Given the description of an element on the screen output the (x, y) to click on. 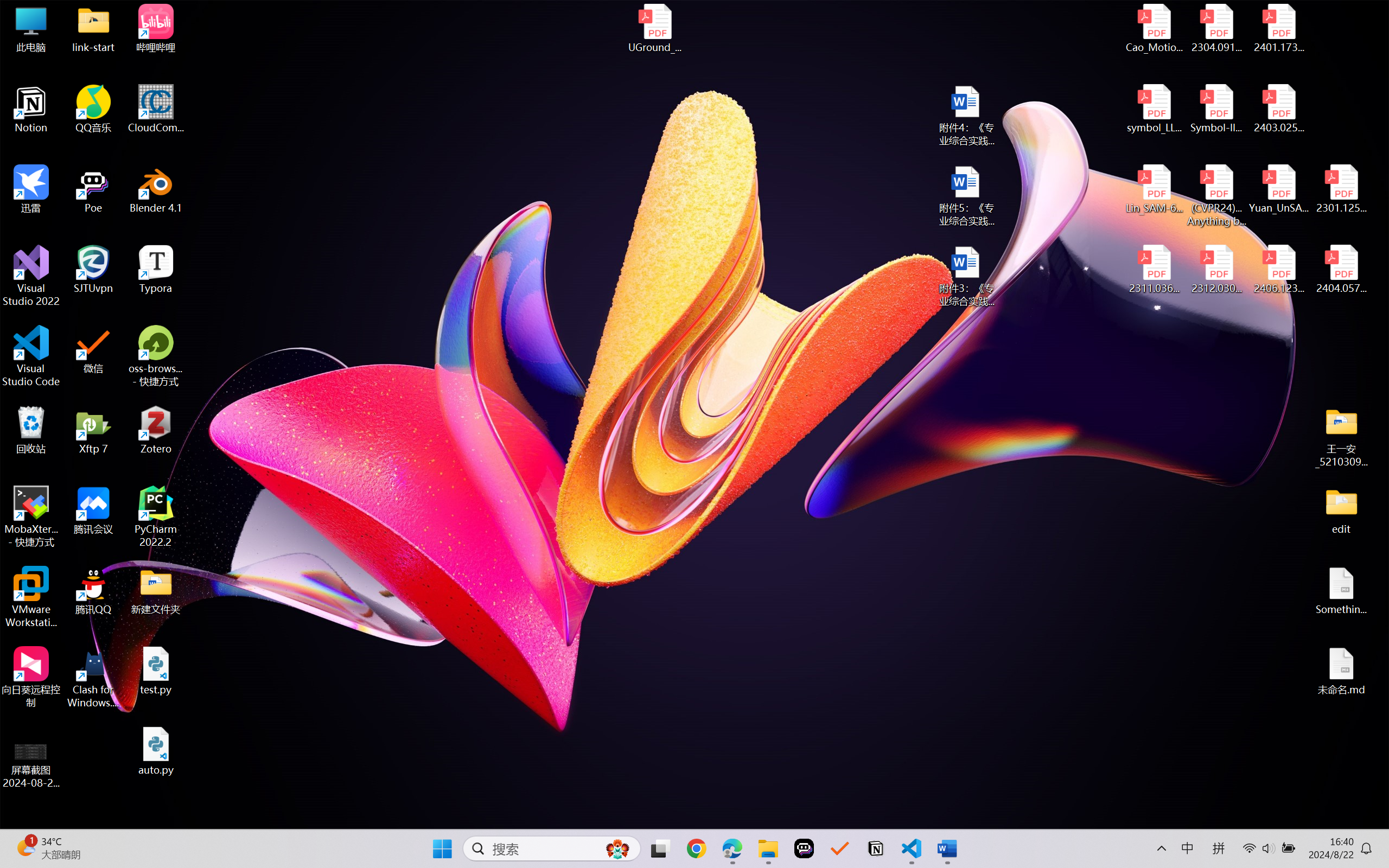
2401.17399v1.pdf (1278, 28)
Poe (93, 189)
Symbol-llm-v2.pdf (1216, 109)
2406.12373v2.pdf (1278, 269)
